Given the description of an element on the screen output the (x, y) to click on. 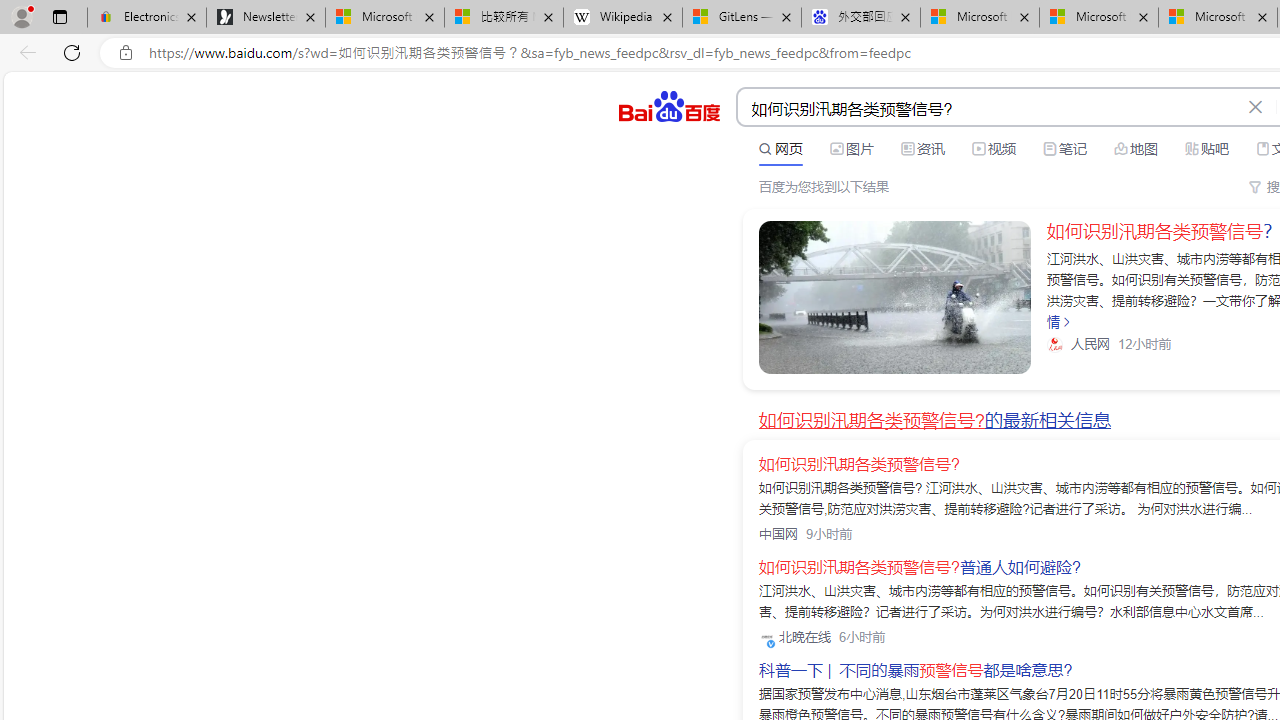
Wikipedia (623, 17)
Electronics, Cars, Fashion, Collectibles & More | eBay (147, 17)
Newsletter Sign Up (266, 17)
